Given the description of an element on the screen output the (x, y) to click on. 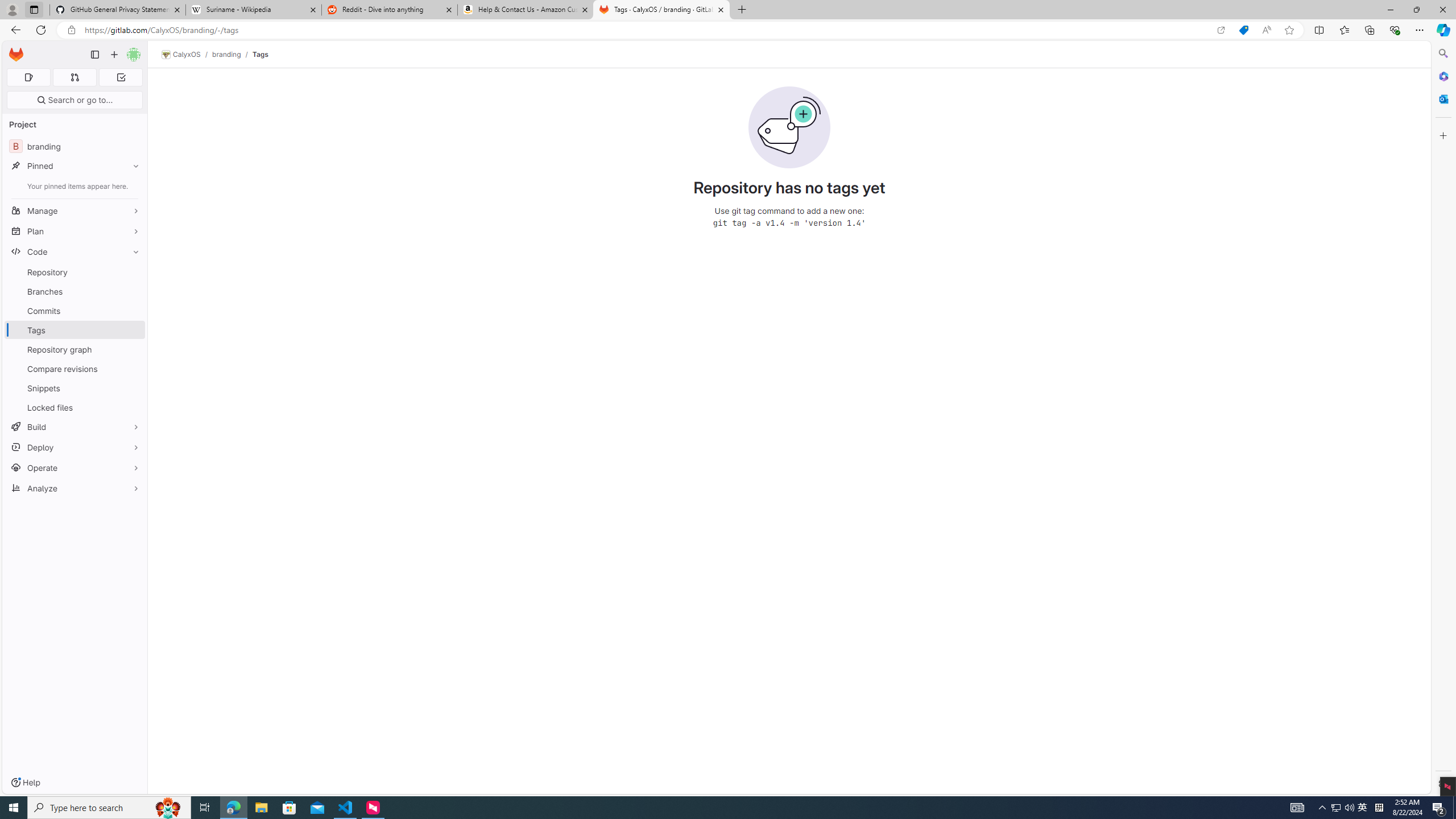
Repository graph (74, 348)
Help & Contact Us - Amazon Customer Service (525, 9)
To-Do list 0 (120, 76)
Primary navigation sidebar (94, 54)
Bbranding (74, 145)
Pin Locked files (132, 407)
Locked files (74, 407)
Assigned issues 0 (28, 76)
Deploy (74, 447)
Create new... (113, 54)
